Given the description of an element on the screen output the (x, y) to click on. 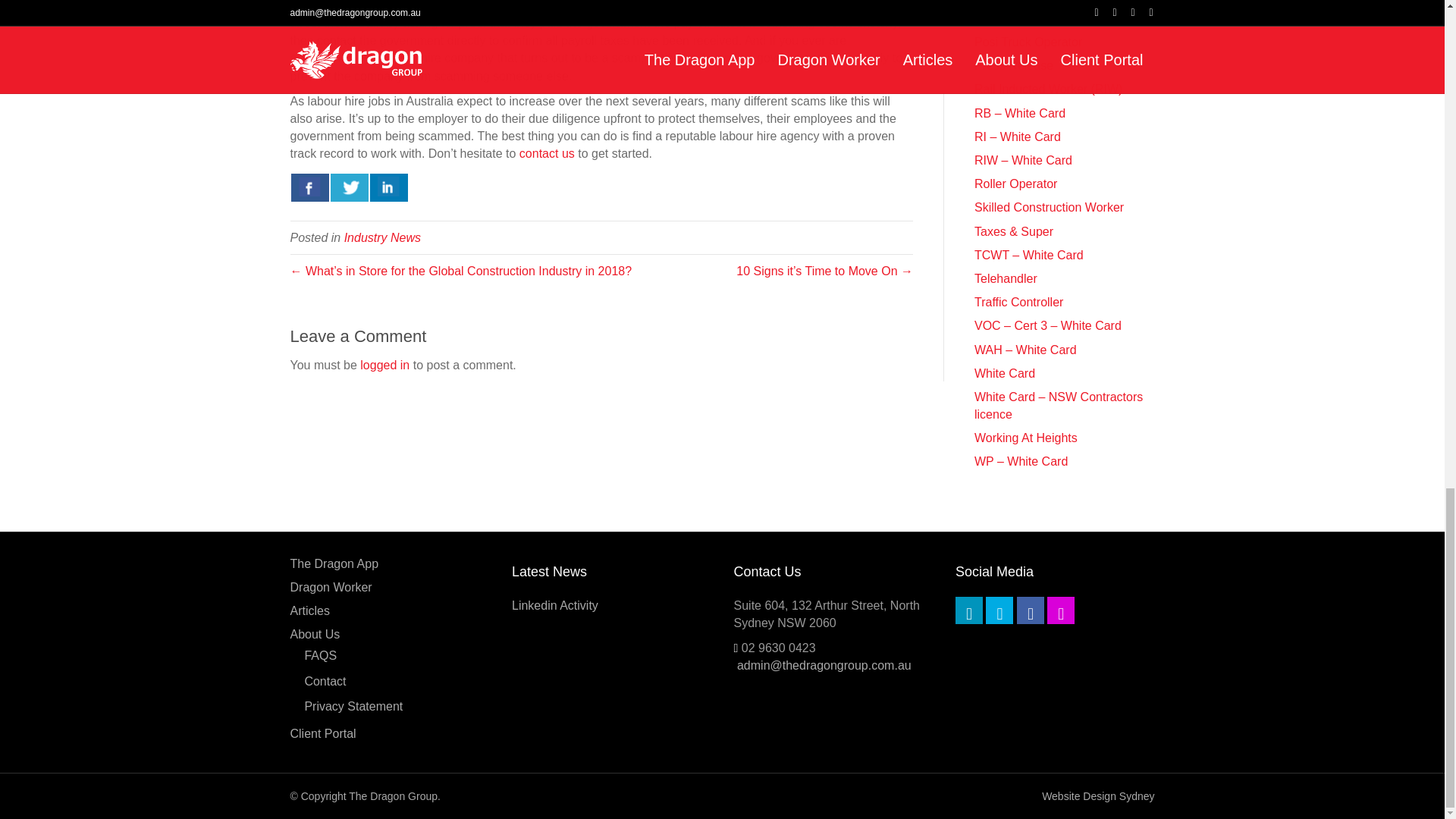
Industry News (381, 237)
Share On Twitter (349, 186)
contact us (547, 153)
Share On Facebook (310, 186)
logged in (384, 364)
Share On Linkedin (388, 186)
